Given the description of an element on the screen output the (x, y) to click on. 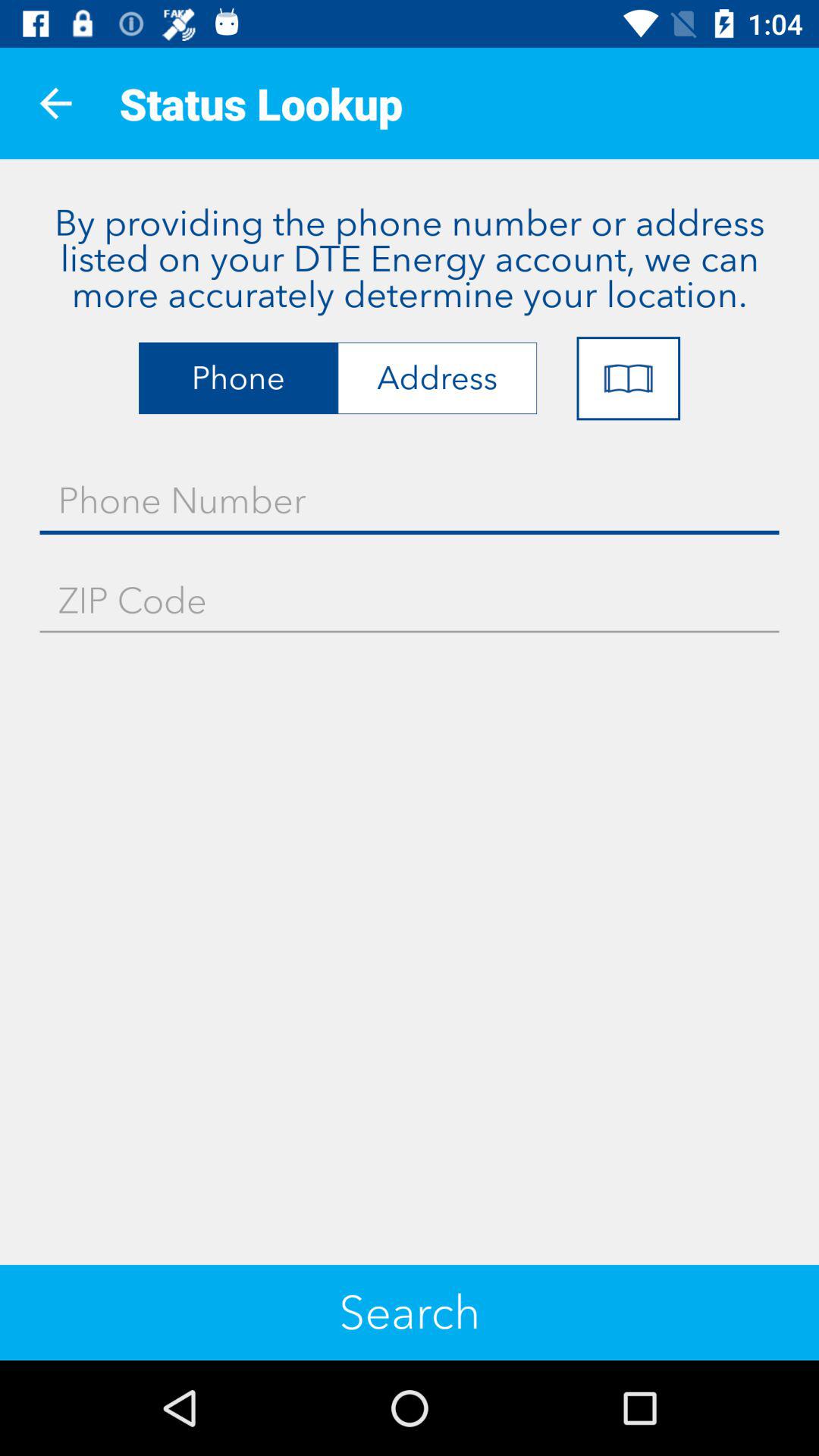
press app to the left of the status lookup (55, 103)
